Given the description of an element on the screen output the (x, y) to click on. 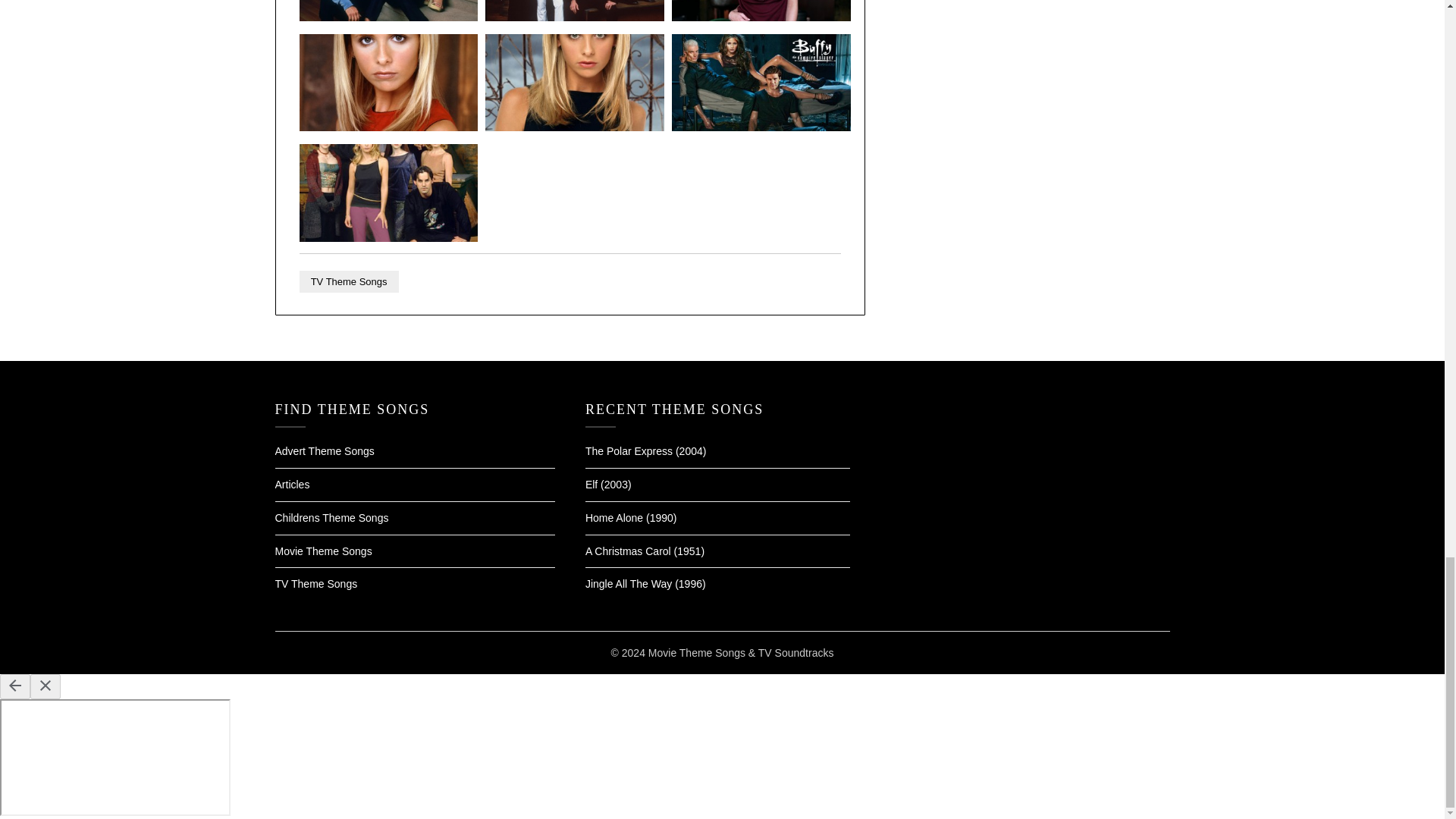
Buffy the Vampire Slayer (573, 16)
Buffy the Vampire Slayer (389, 237)
Buffy the Vampire Slayer (573, 126)
Buffy the Vampire Slayer (389, 126)
Buffy the Vampire Slayer (760, 126)
TV Theme Songs (348, 281)
Buffy the Vampire Slayer (760, 16)
Buffy the Vampire Slayer (389, 16)
